Given the description of an element on the screen output the (x, y) to click on. 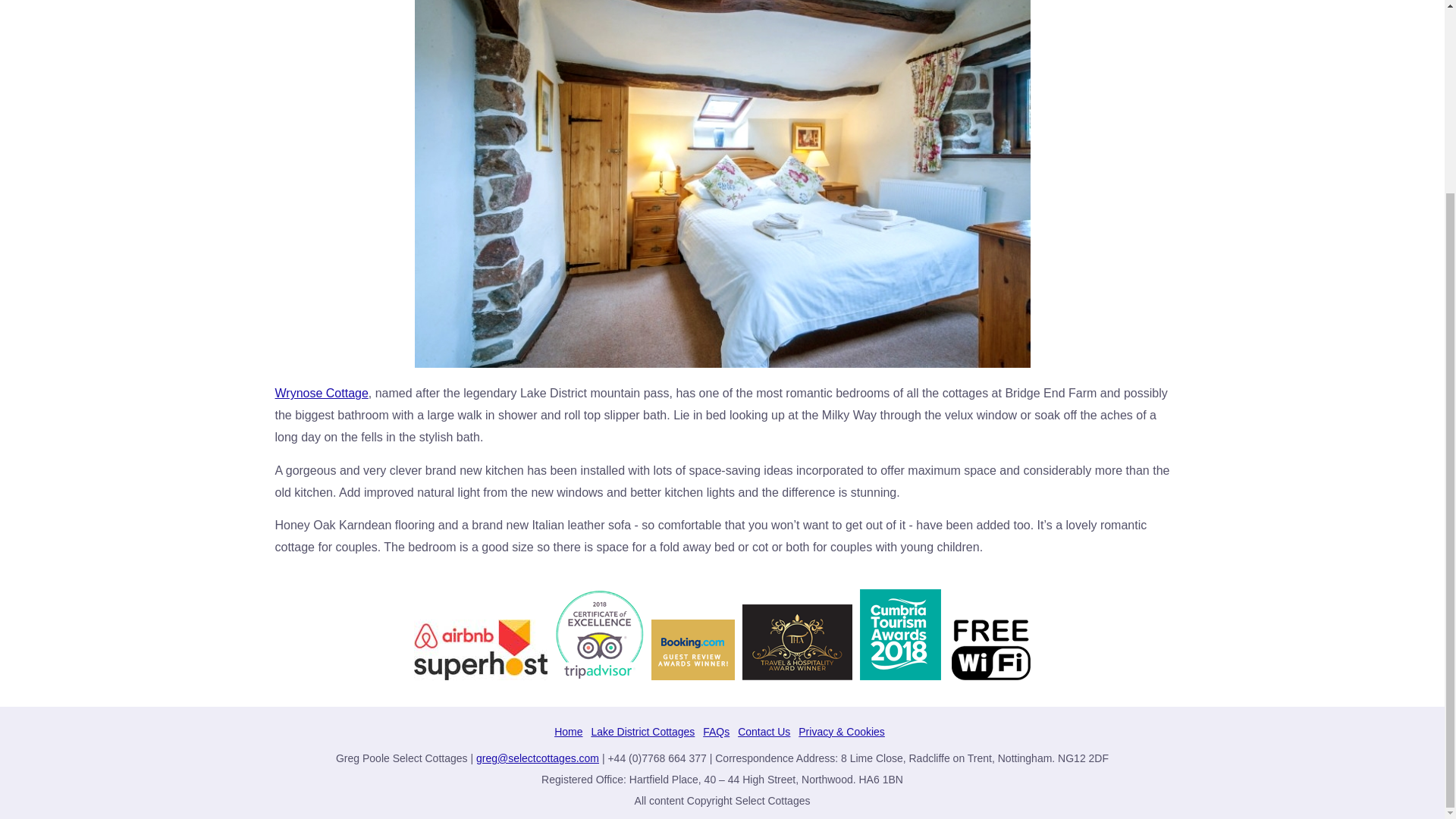
Lake District Cottages (642, 731)
Contact Us (764, 731)
FAQs (716, 731)
Wrynose Cottage (321, 392)
Home (568, 731)
